Given the description of an element on the screen output the (x, y) to click on. 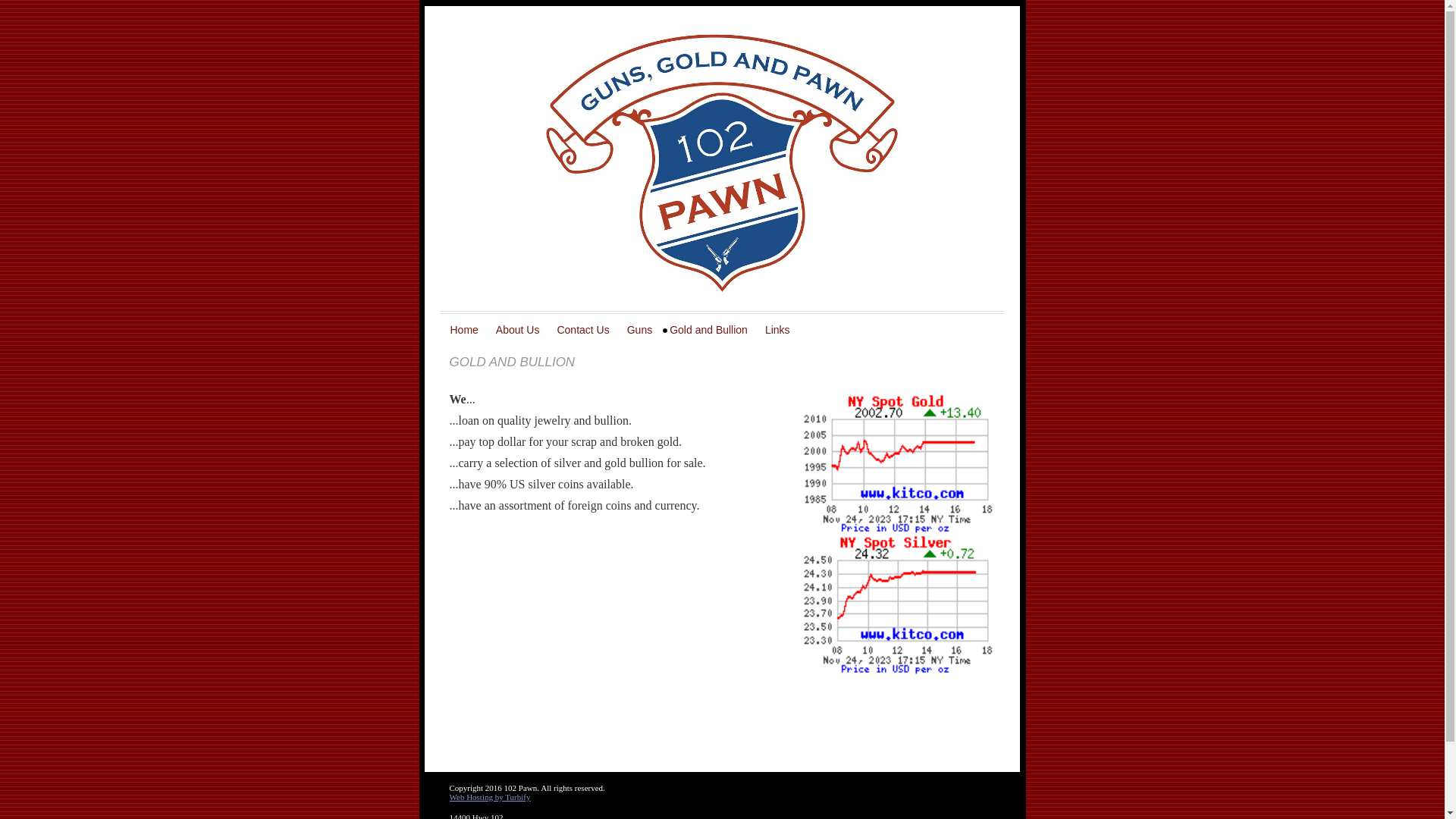
Links Element type: text (779, 330)
Web Hosting by Turbify Element type: text (489, 796)
Home Element type: text (465, 330)
Guns Element type: text (641, 330)
About Us Element type: text (519, 330)
Gold and Bullion Element type: text (710, 330)
Contact Us Element type: text (584, 330)
